Given the description of an element on the screen output the (x, y) to click on. 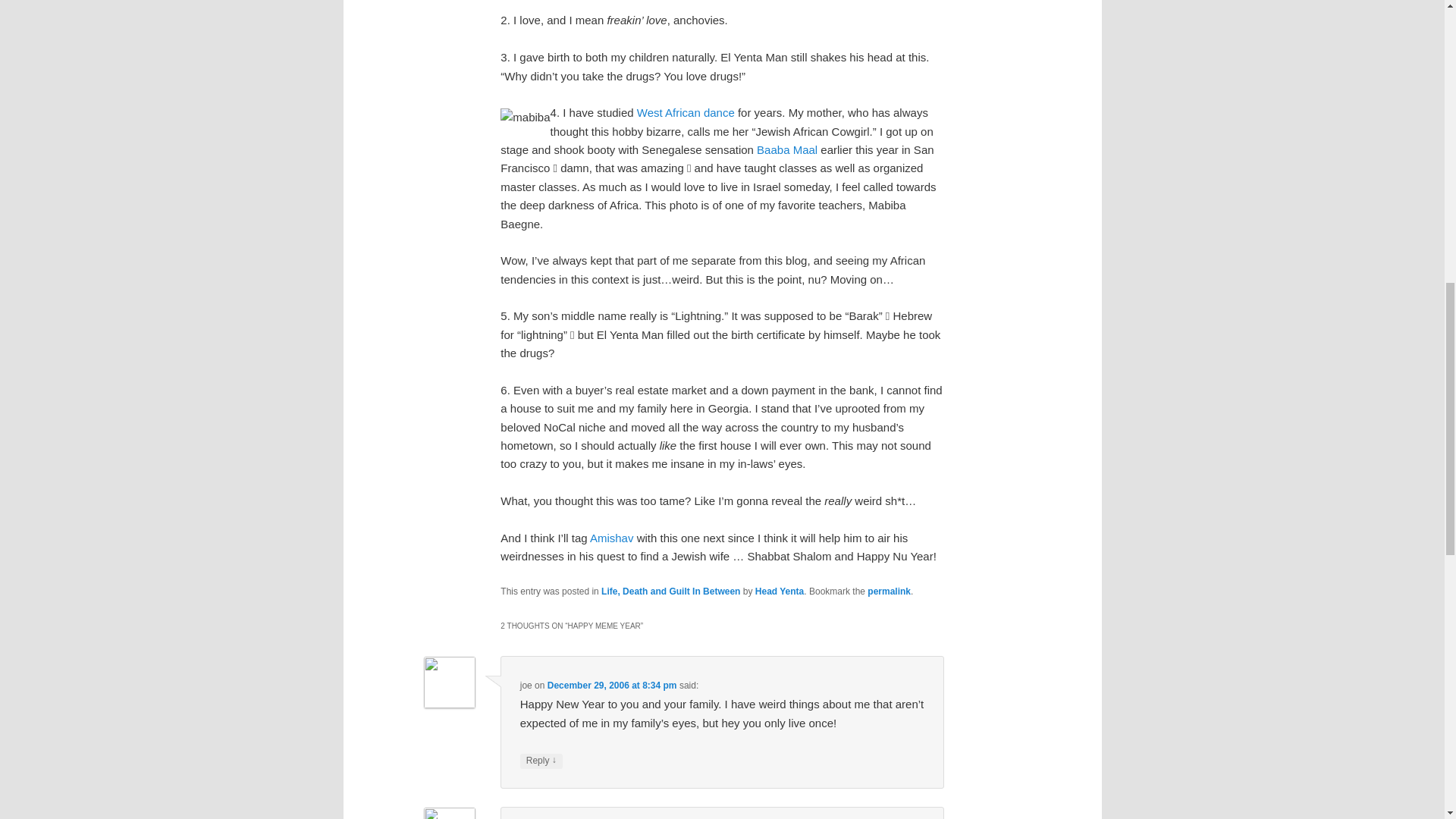
Amishav (611, 537)
Baaba Maal (786, 149)
West African dance (686, 112)
Life, Death and Guilt In Between (670, 591)
permalink (889, 591)
Head Yenta (779, 591)
December 29, 2006 at 8:34 pm (612, 685)
Permalink to Happy Meme Year (889, 591)
